Given the description of an element on the screen output the (x, y) to click on. 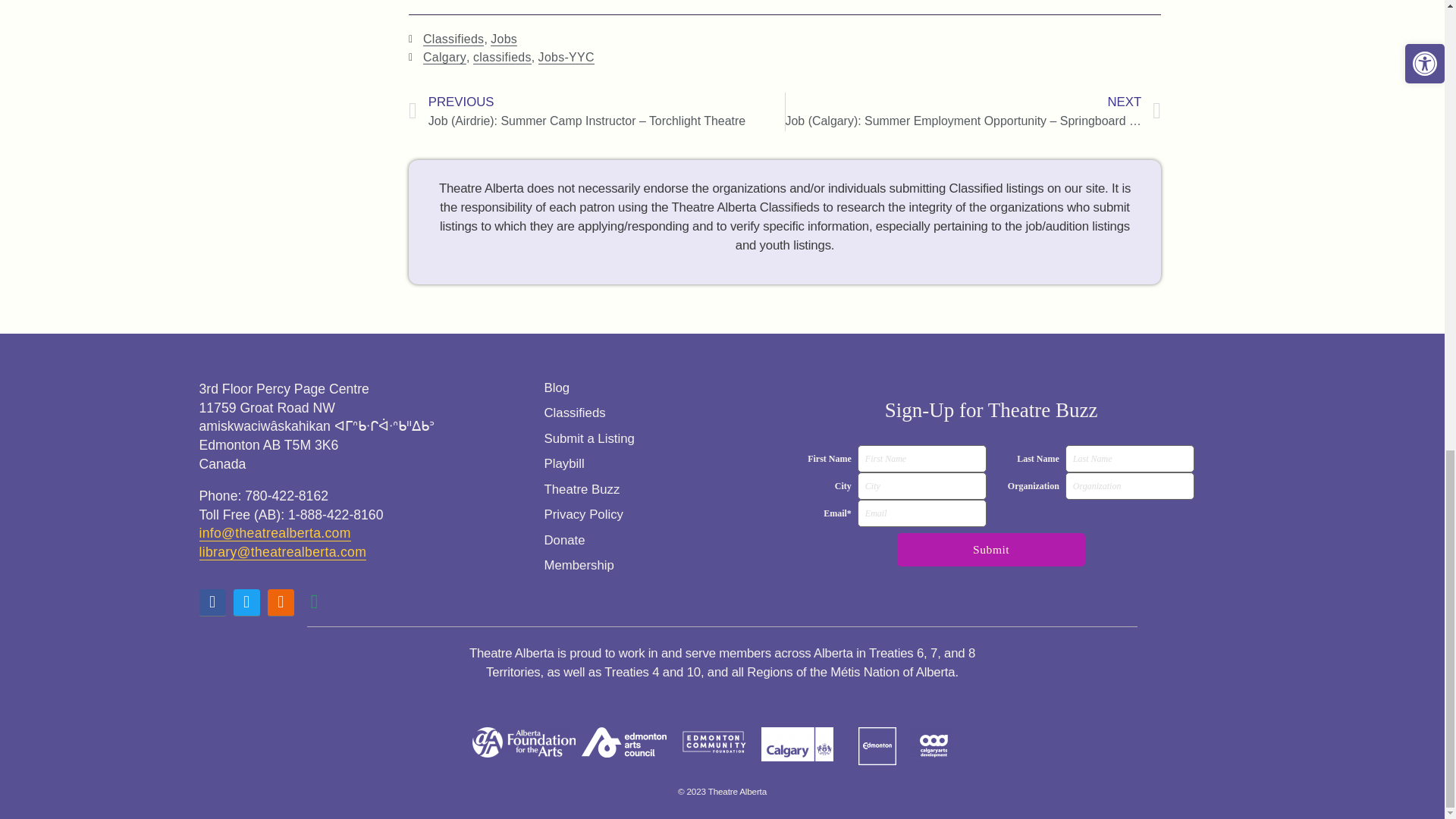
Submit (990, 549)
